Given the description of an element on the screen output the (x, y) to click on. 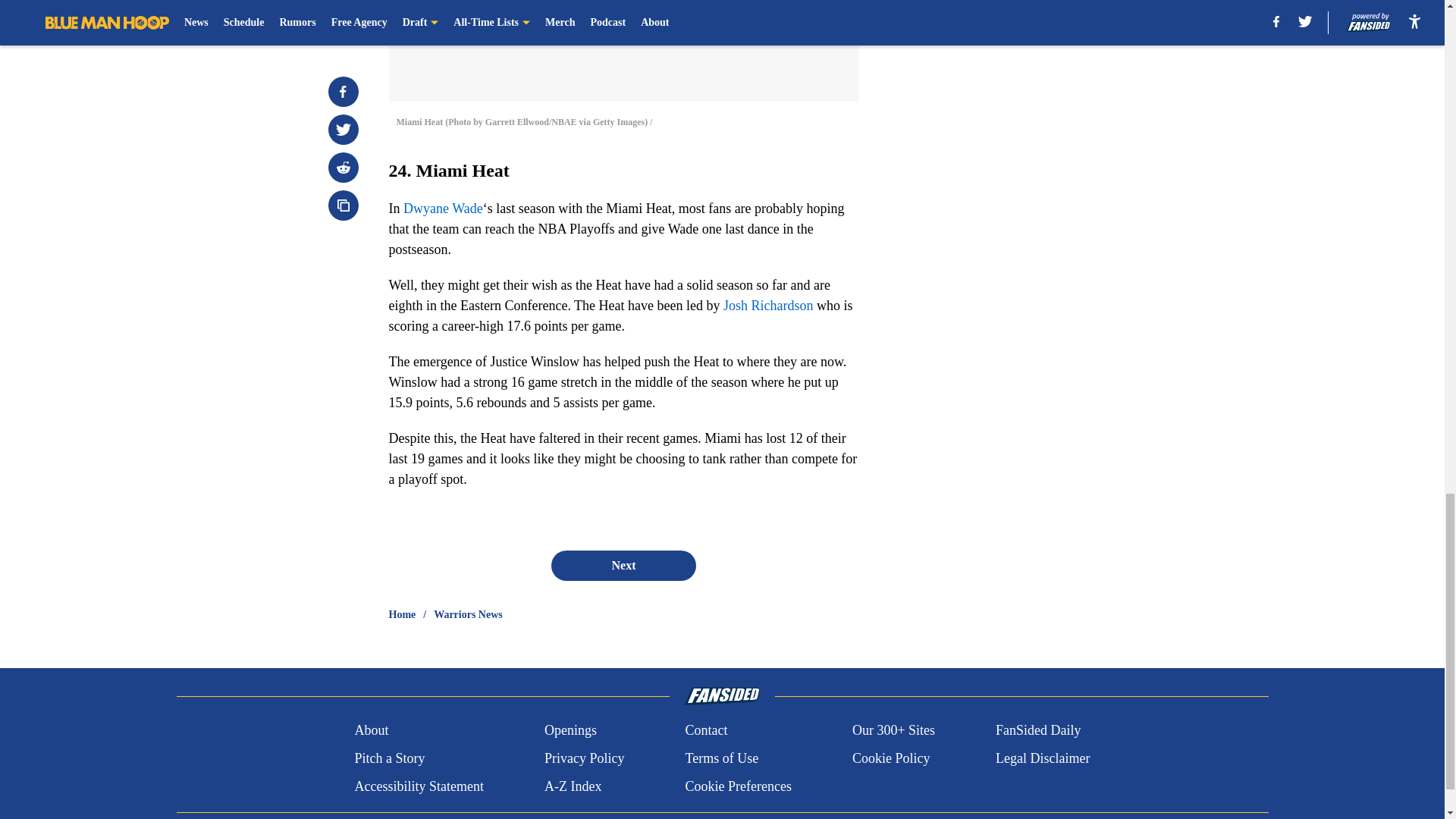
Josh Richardson (768, 305)
About (370, 730)
Next (622, 565)
Warriors News (467, 614)
Dwyane Wade (443, 208)
Openings (570, 730)
Home (401, 614)
